Given the description of an element on the screen output the (x, y) to click on. 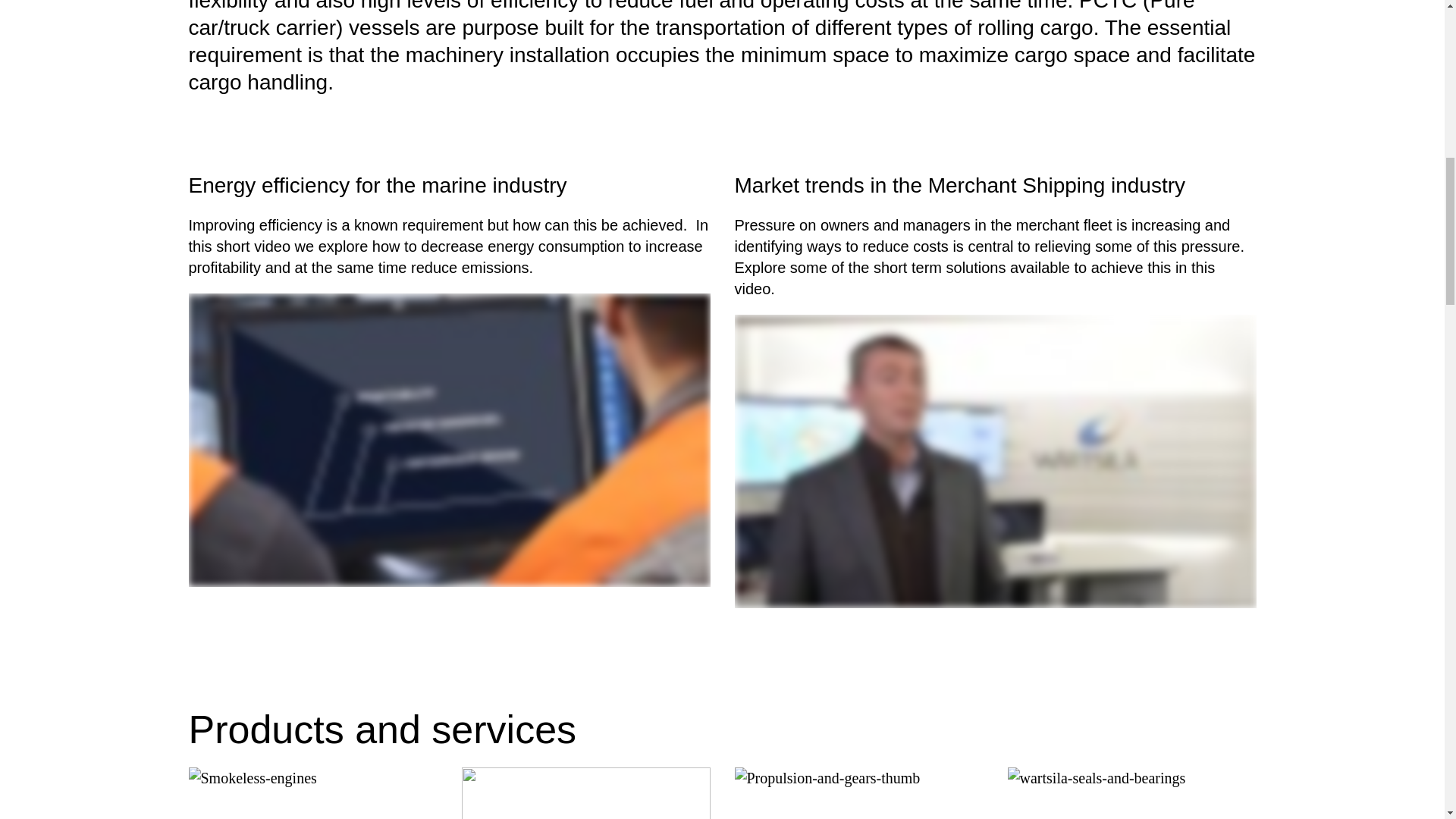
Engines and generating sets (311, 793)
Shaft line solutions (1131, 793)
Propulsors and gears (857, 793)
Electric shipping and hybrid ships (585, 793)
